Given the description of an element on the screen output the (x, y) to click on. 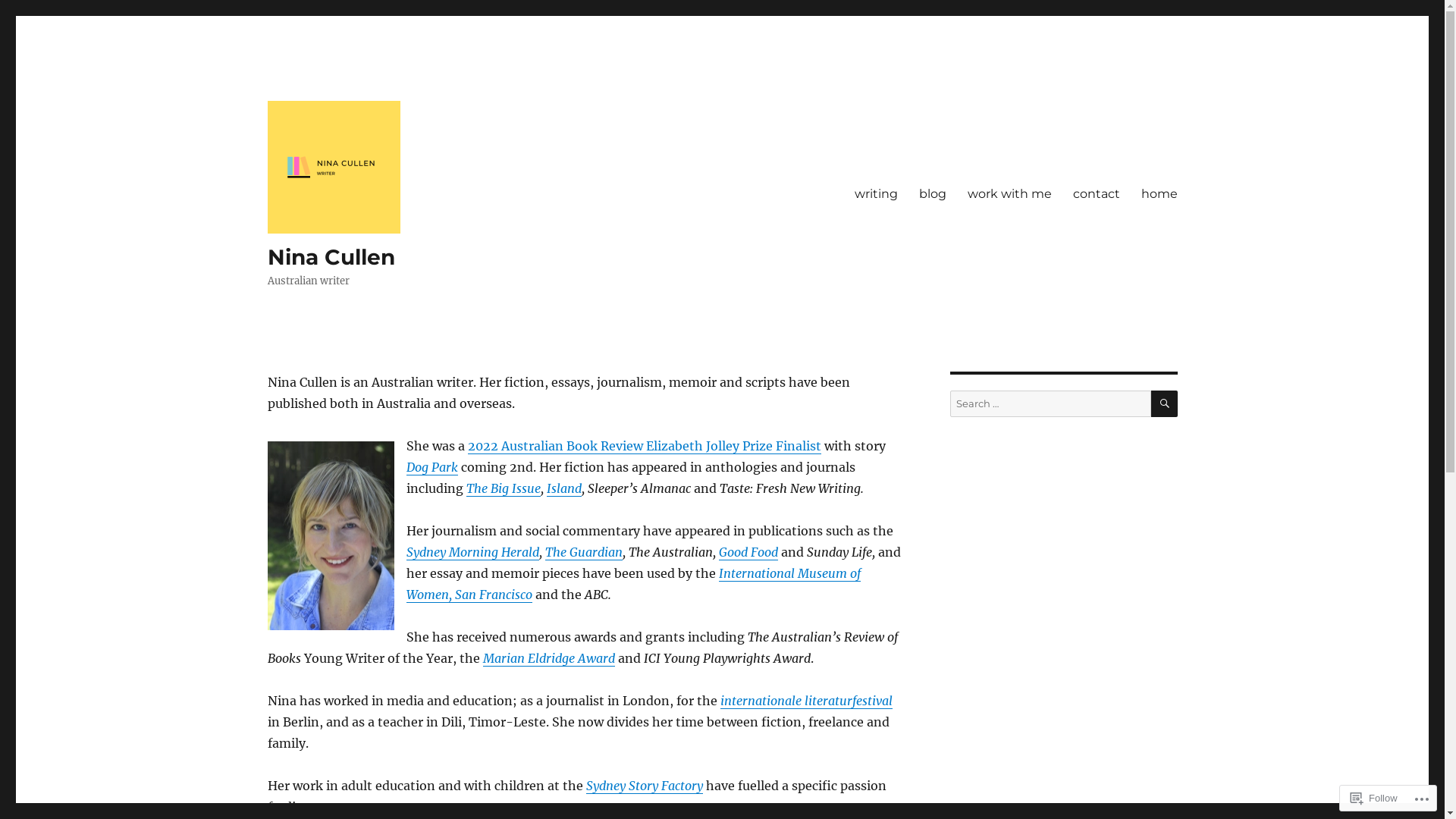
The Guardian Element type: text (582, 551)
Follow Element type: text (1373, 797)
Dog Park Element type: text (432, 466)
Sydney Story Factory Element type: text (643, 785)
work with me Element type: text (1009, 193)
contact Element type: text (1095, 193)
blog Element type: text (932, 193)
Island Element type: text (563, 487)
2022 Australian Book Review Elizabeth Jolley Prize Finalist Element type: text (643, 445)
internationale literaturfestival Element type: text (806, 700)
International Museum of Women, San Francisco Element type: text (633, 583)
writing Element type: text (875, 193)
The Big Issue Element type: text (502, 487)
Marian Eldridge Award Element type: text (548, 657)
home Element type: text (1158, 193)
Sydney Morning Herald Element type: text (472, 551)
Nina Cullen Element type: text (330, 256)
Good Food Element type: text (748, 551)
